Given the description of an element on the screen output the (x, y) to click on. 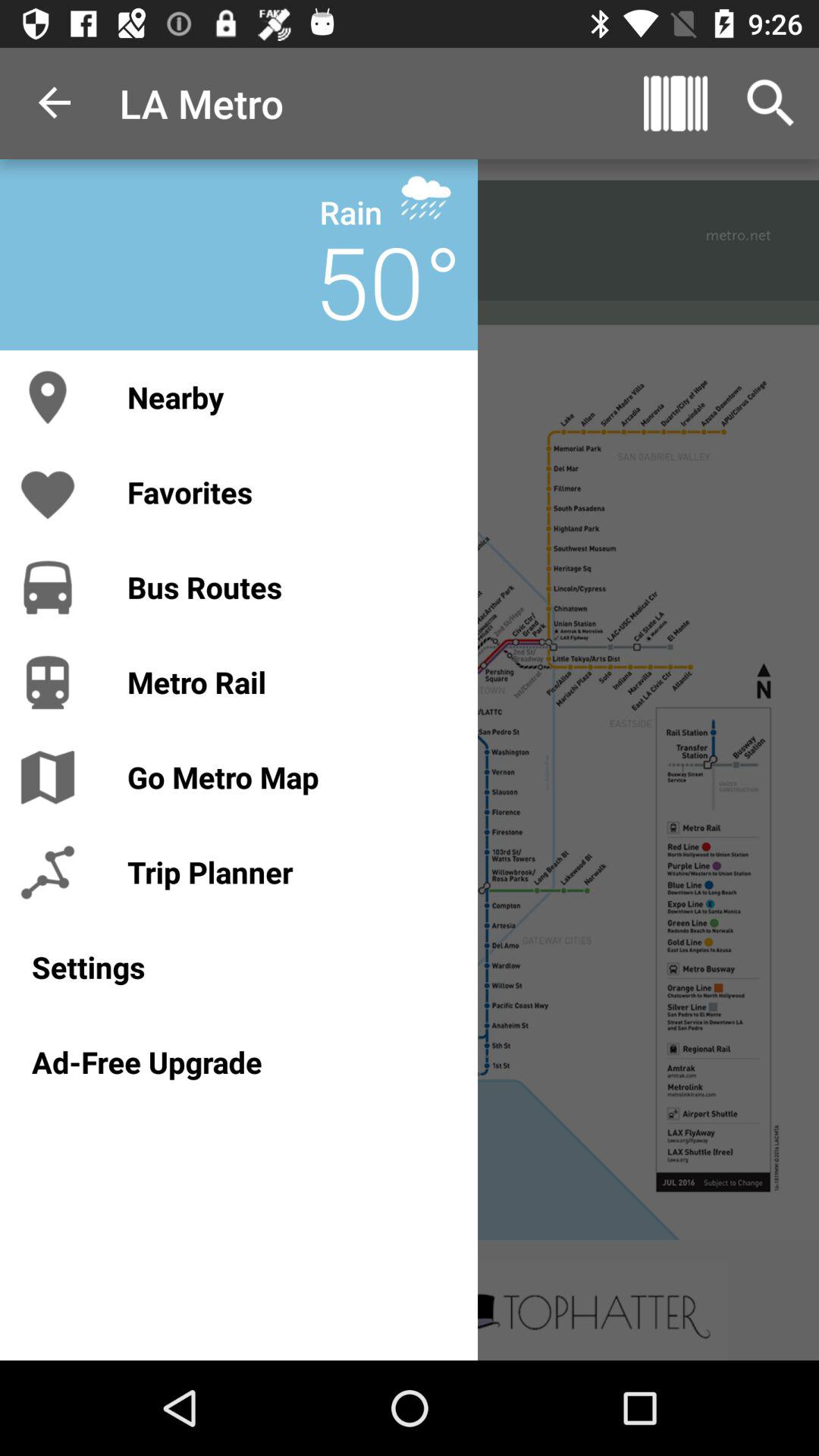
select app next to la metro icon (55, 103)
